Given the description of an element on the screen output the (x, y) to click on. 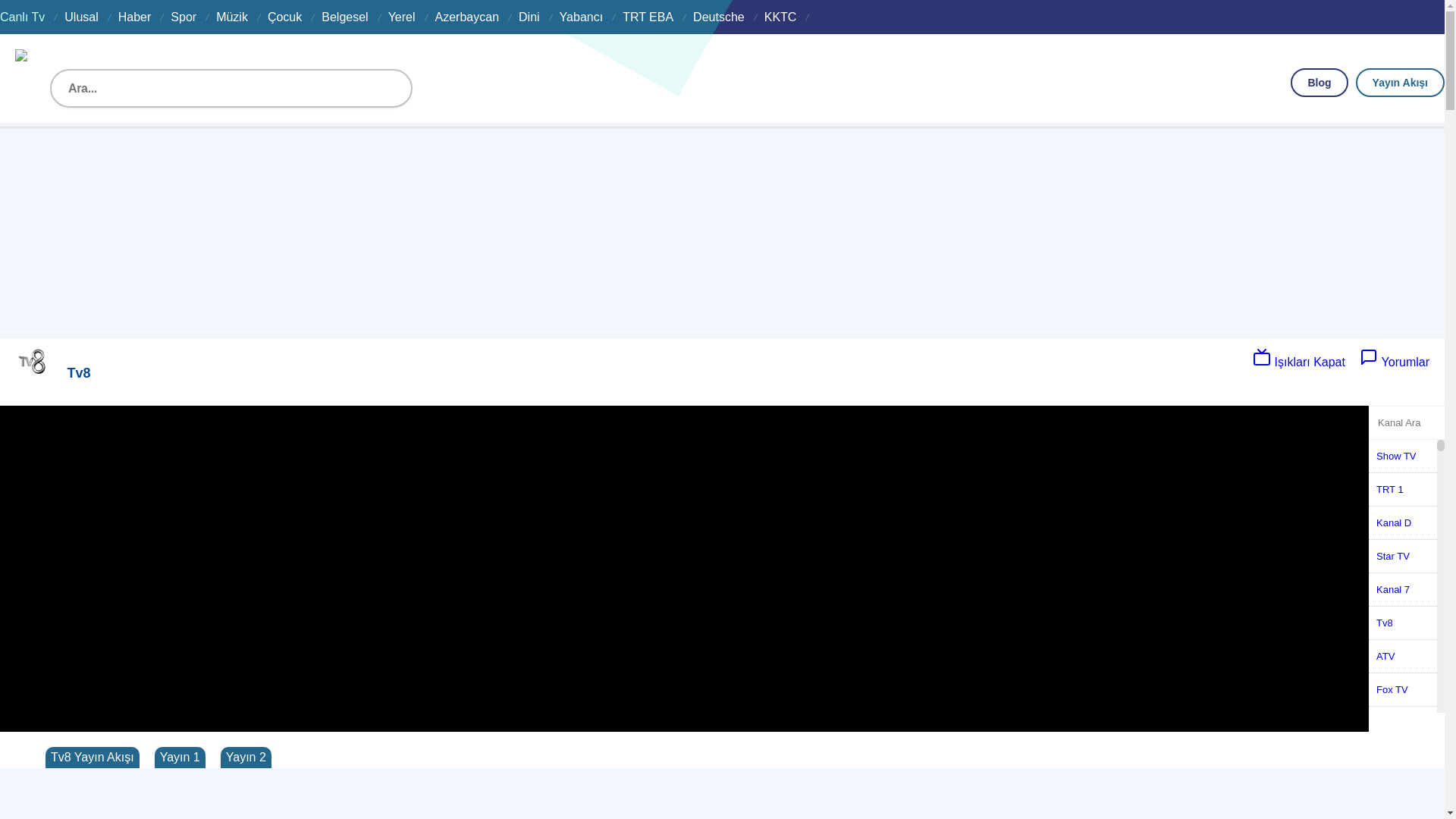
ATV Element type: text (1402, 656)
Advertisement Element type: hover (455, 232)
Belgesel Element type: text (344, 17)
Dini Element type: text (528, 17)
Spor Element type: text (183, 17)
A Haber Element type: text (1402, 789)
Yerel Element type: text (401, 17)
Fox TV Element type: text (1402, 689)
Tv8 Element type: text (1402, 622)
Deutsche Element type: text (718, 17)
Azerbaycan Element type: text (467, 17)
Haber Element type: text (134, 17)
Beyaz TV Element type: text (1402, 722)
Show TV Element type: text (1402, 455)
Kanal 7 Element type: text (1402, 589)
TRT EBA Element type: text (647, 17)
Star TV Element type: text (1402, 555)
TV 360 Element type: text (1402, 756)
Blog Element type: text (1318, 82)
Yorumlar Element type: text (1394, 361)
KKTC Element type: text (780, 17)
Kanal D Element type: text (1402, 522)
TRT 1 Element type: text (1402, 489)
Ulusal Element type: text (80, 17)
